Given the description of an element on the screen output the (x, y) to click on. 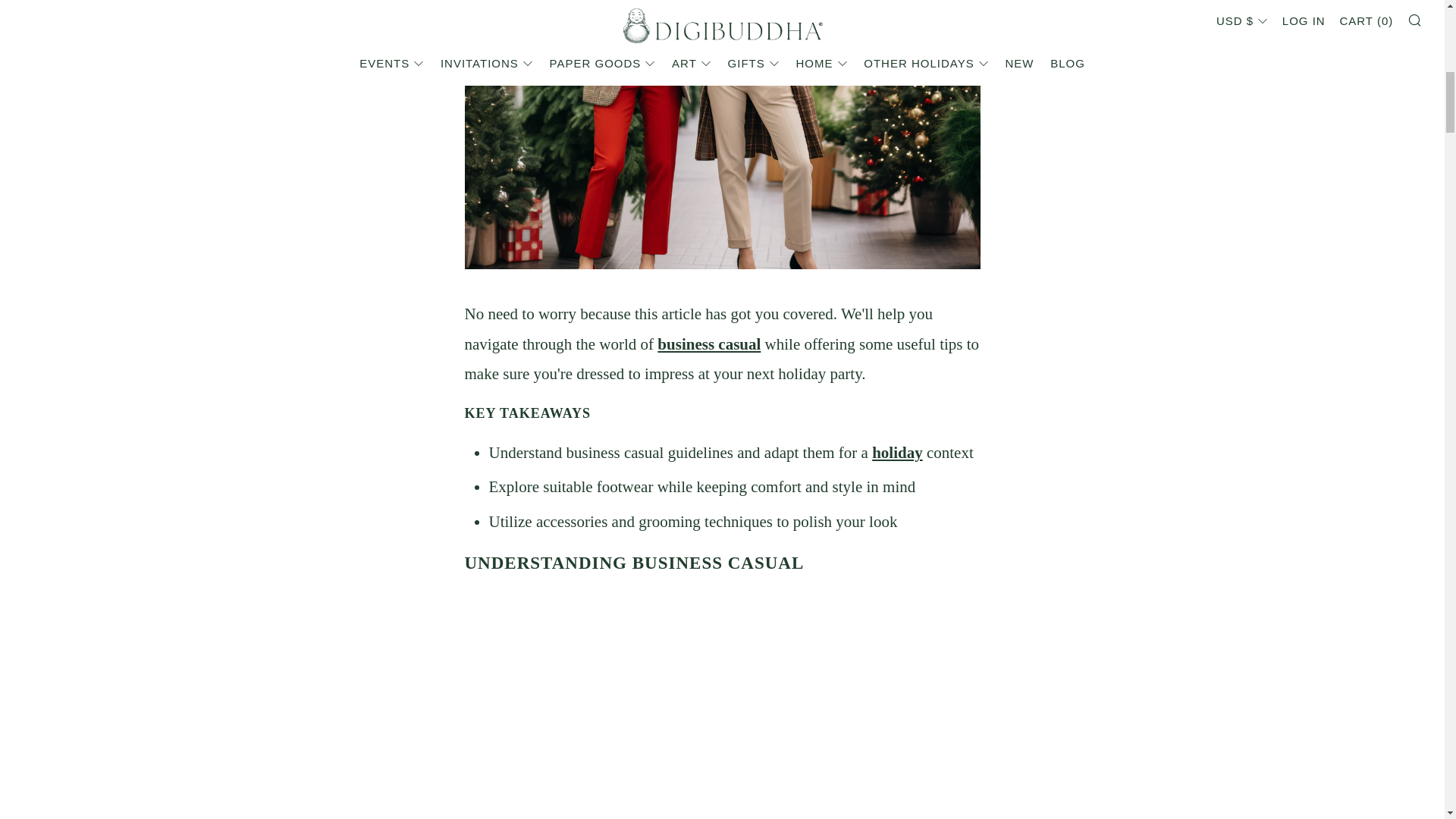
High Neck Jumpsuit Workwear (709, 343)
YouTube video player (721, 707)
